Given the description of an element on the screen output the (x, y) to click on. 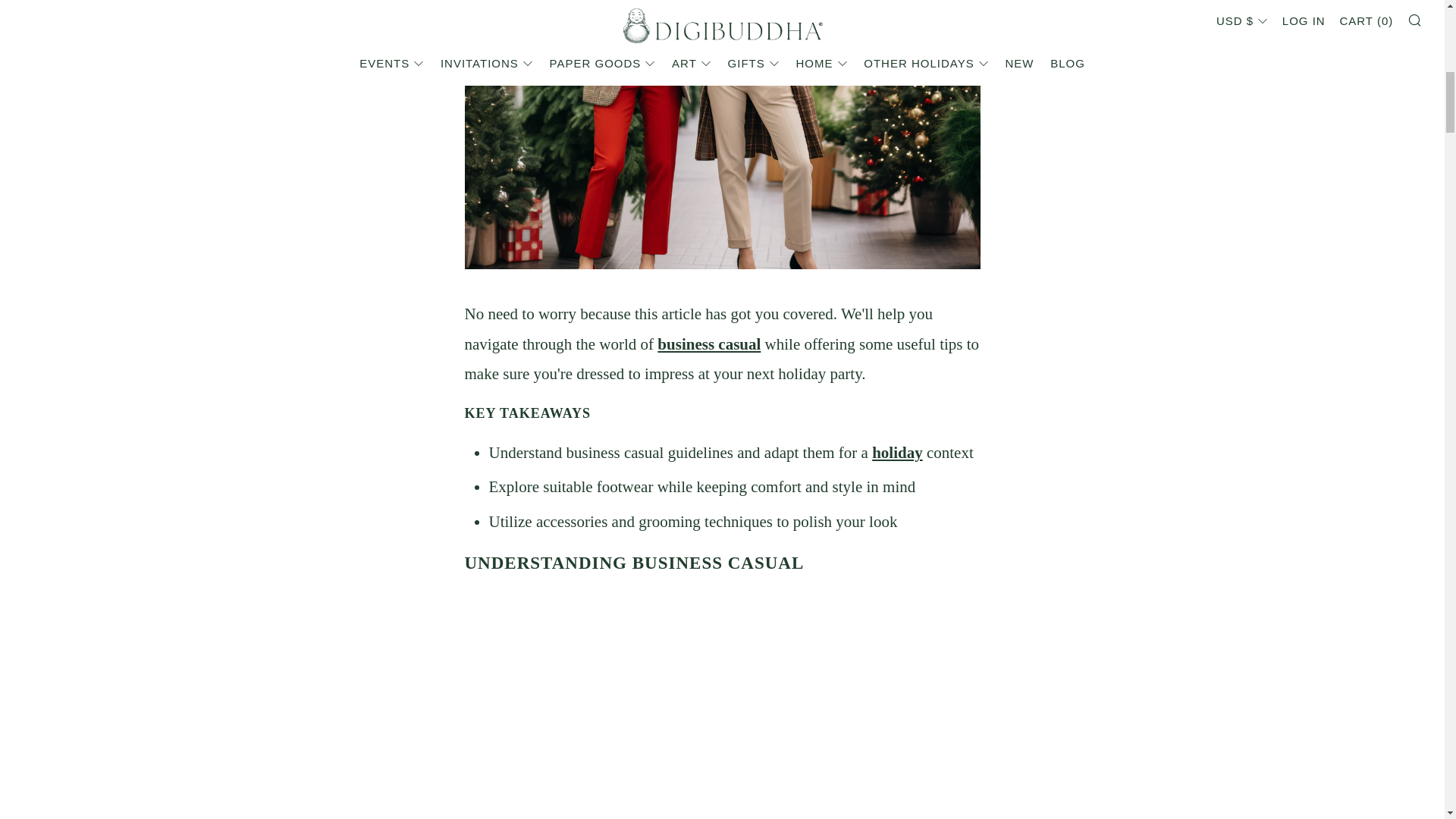
High Neck Jumpsuit Workwear (709, 343)
YouTube video player (721, 707)
